Given the description of an element on the screen output the (x, y) to click on. 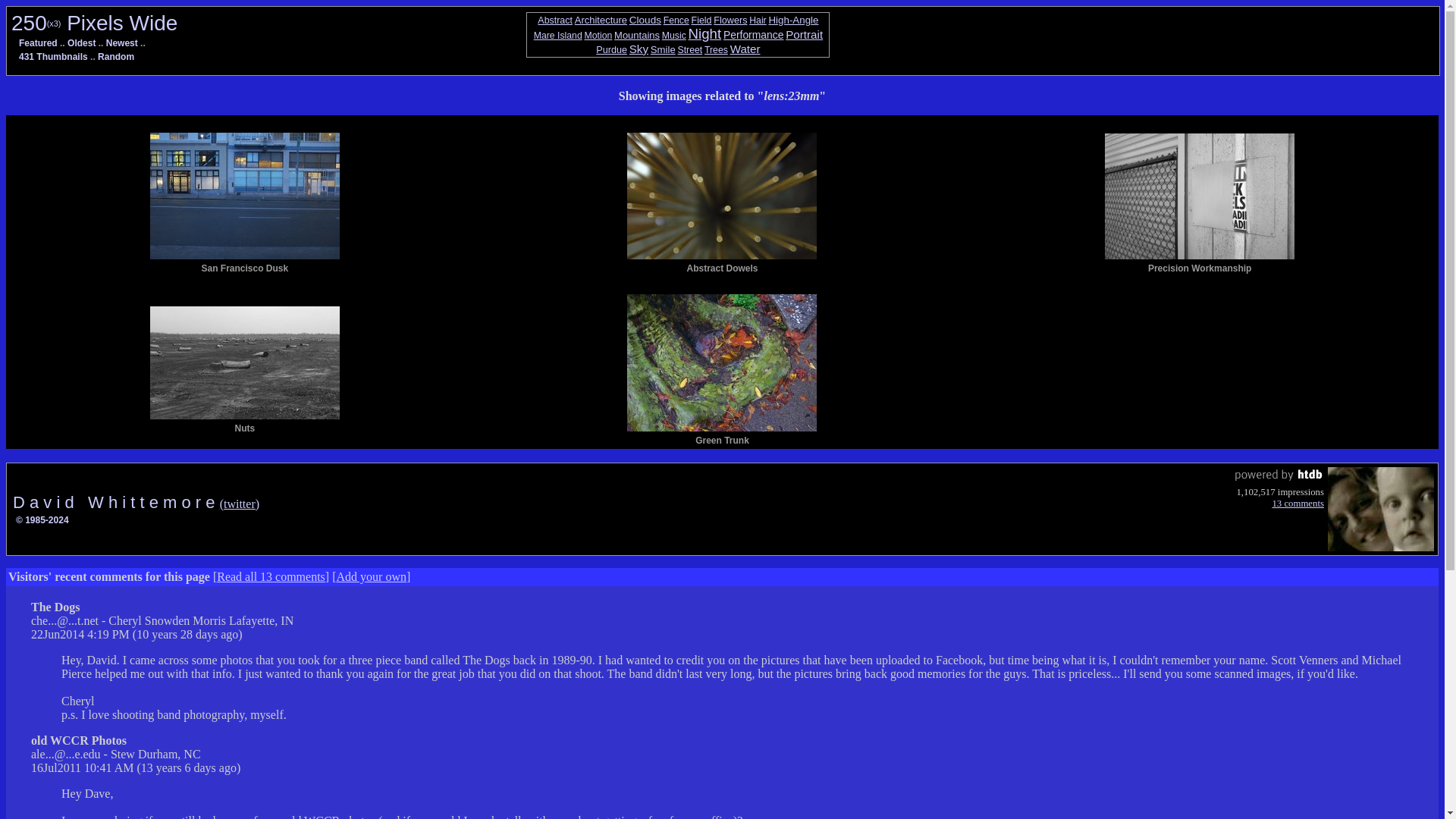
Purdue (611, 50)
Read all 13 comments (270, 576)
Music (673, 35)
Street (690, 50)
Newest (122, 42)
Portrait (804, 33)
Trees (716, 50)
Sky (637, 48)
Abstract (554, 20)
Oldest (81, 42)
431 Thumbnails (52, 56)
Architecture (601, 19)
Night (705, 33)
Performance (753, 34)
Water (745, 48)
